Given the description of an element on the screen output the (x, y) to click on. 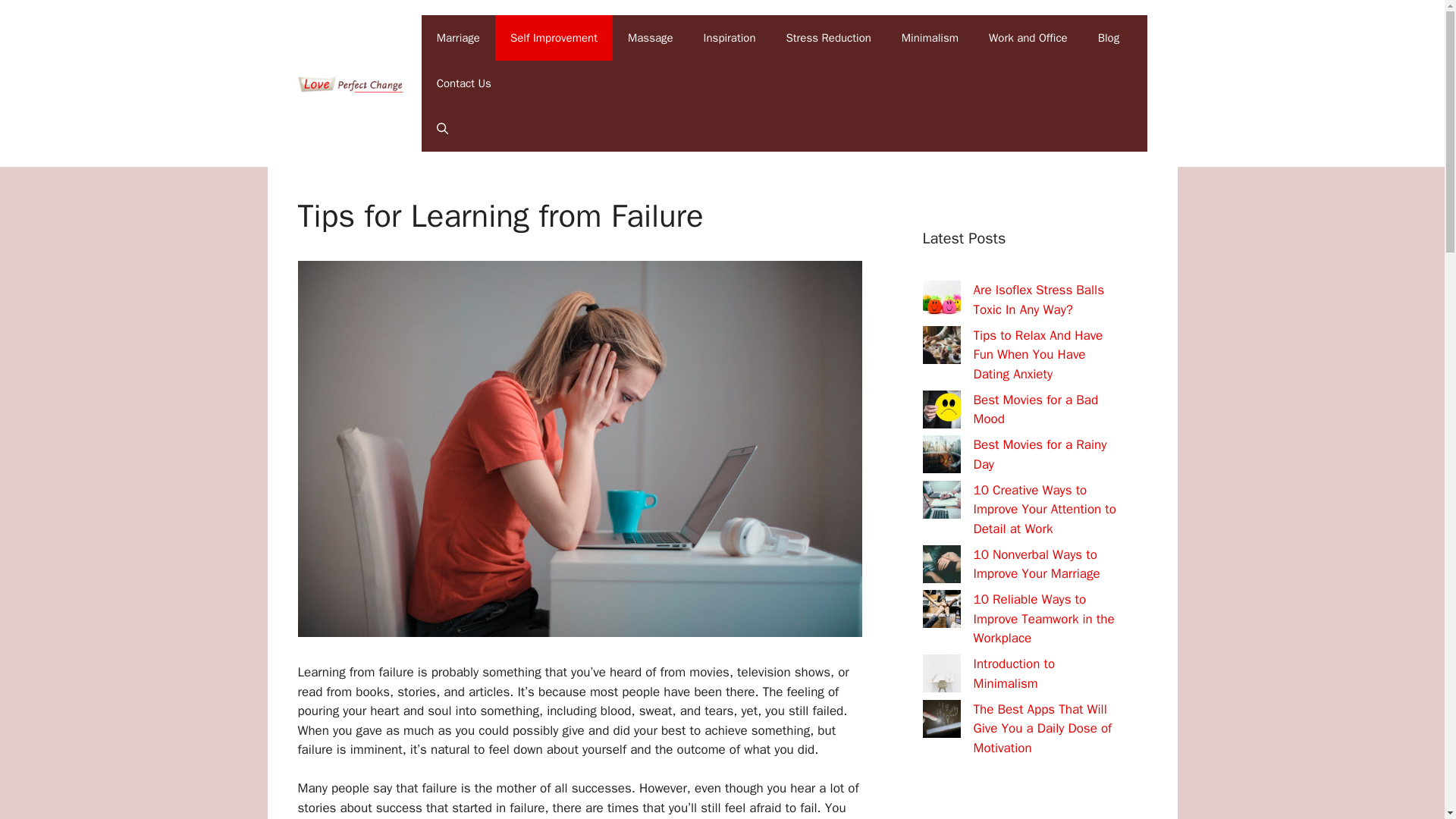
10 Reliable Ways to Improve Teamwork in the Workplace (1044, 618)
Are Isoflex Stress Balls Toxic In Any Way? (1038, 299)
Massage (650, 37)
Best Movies for a Rainy Day (1040, 454)
Inspiration (729, 37)
Stress Reduction (827, 37)
Work and Office (1028, 37)
Marriage (458, 37)
Tips to Relax And Have Fun When You Have Dating Anxiety (1038, 354)
10 Creative Ways to Improve Your Attention to Detail at Work (1045, 509)
